Given the description of an element on the screen output the (x, y) to click on. 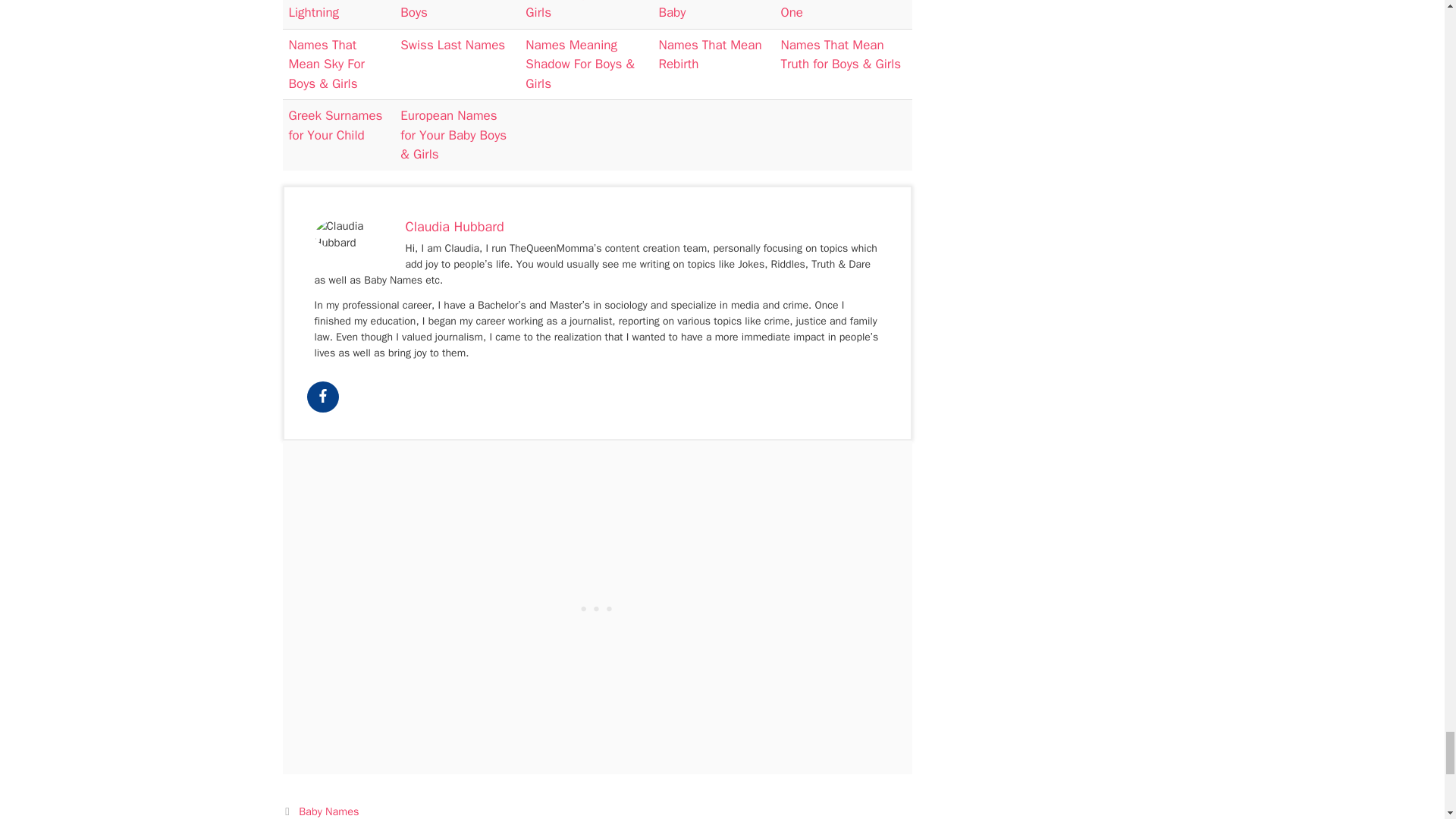
Facebook (321, 396)
